Given the description of an element on the screen output the (x, y) to click on. 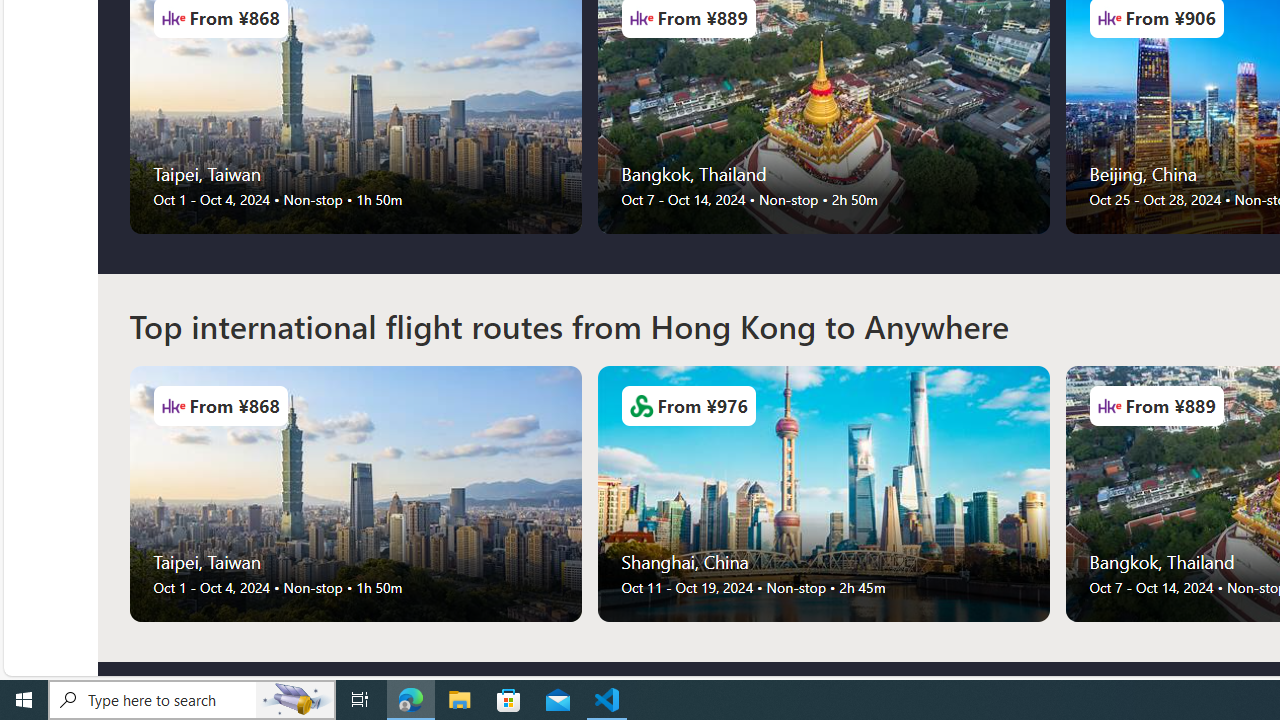
Airlines Logo (1109, 405)
